Given the description of an element on the screen output the (x, y) to click on. 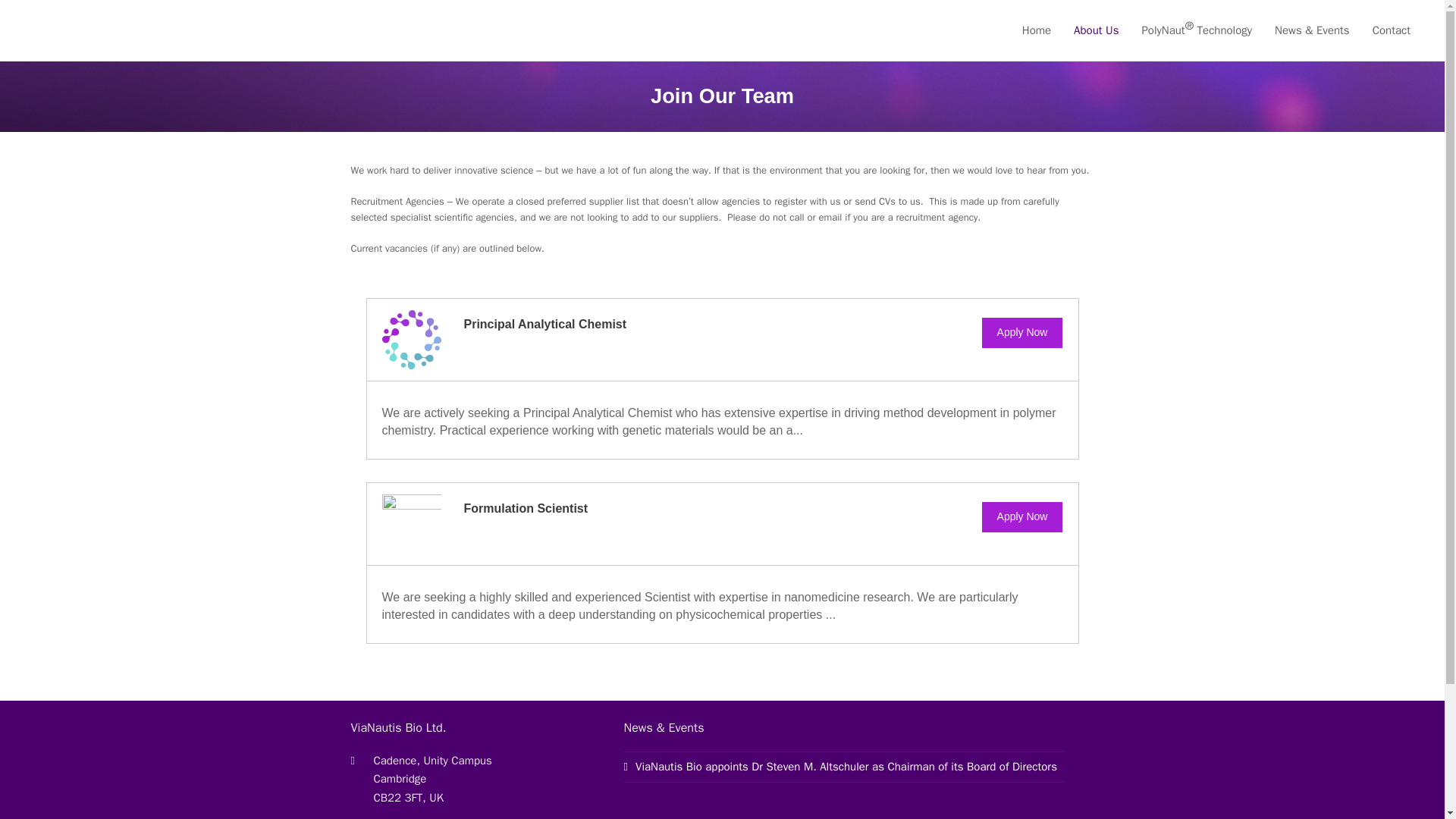
Principal Analytical Chemist (545, 323)
About Us (1095, 30)
Apply Now (1021, 332)
Contact (1391, 30)
Apply Now (1021, 517)
Formulation Scientist (526, 508)
